Given the description of an element on the screen output the (x, y) to click on. 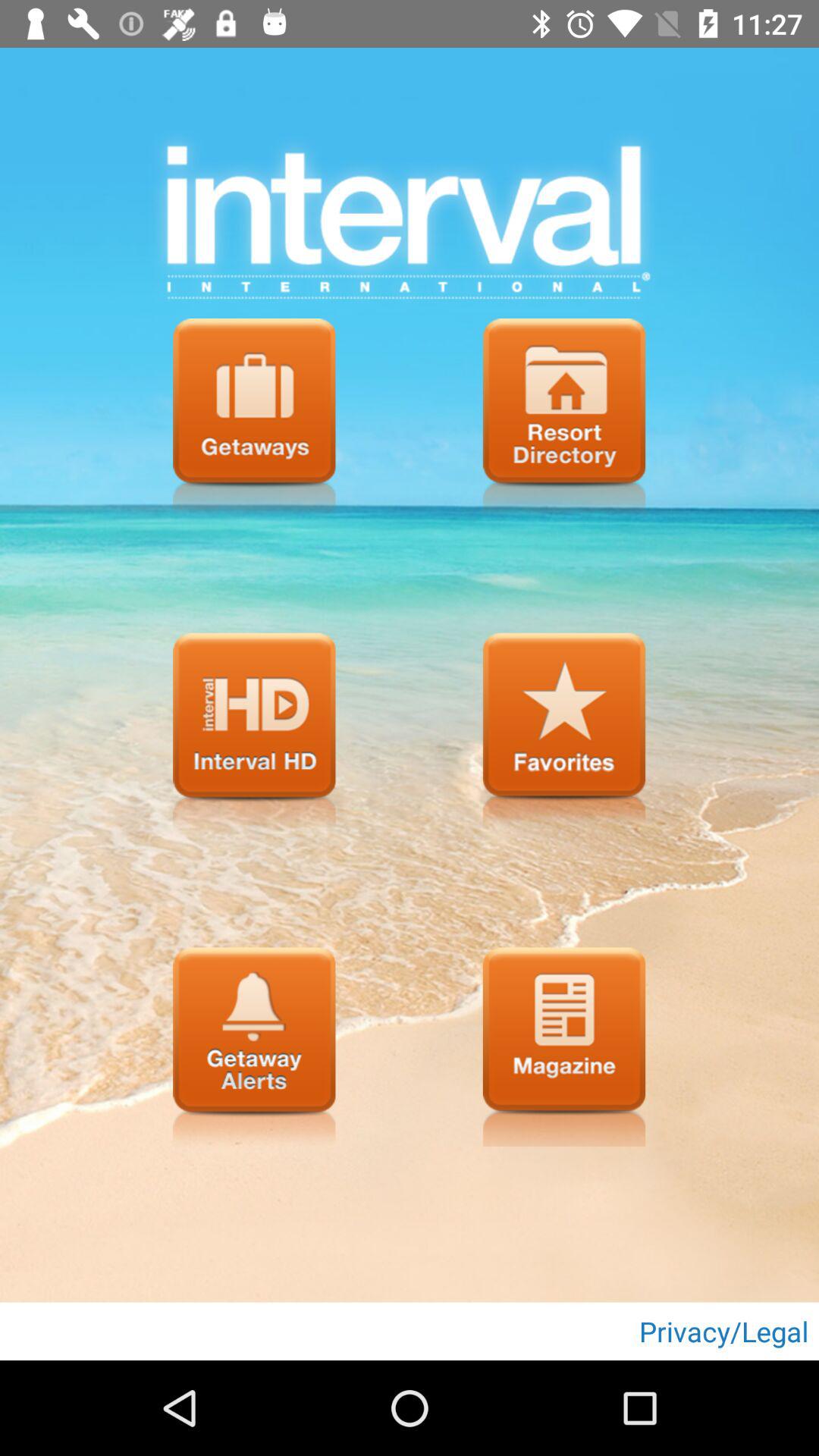
advertisement page (563, 1046)
